Given the description of an element on the screen output the (x, y) to click on. 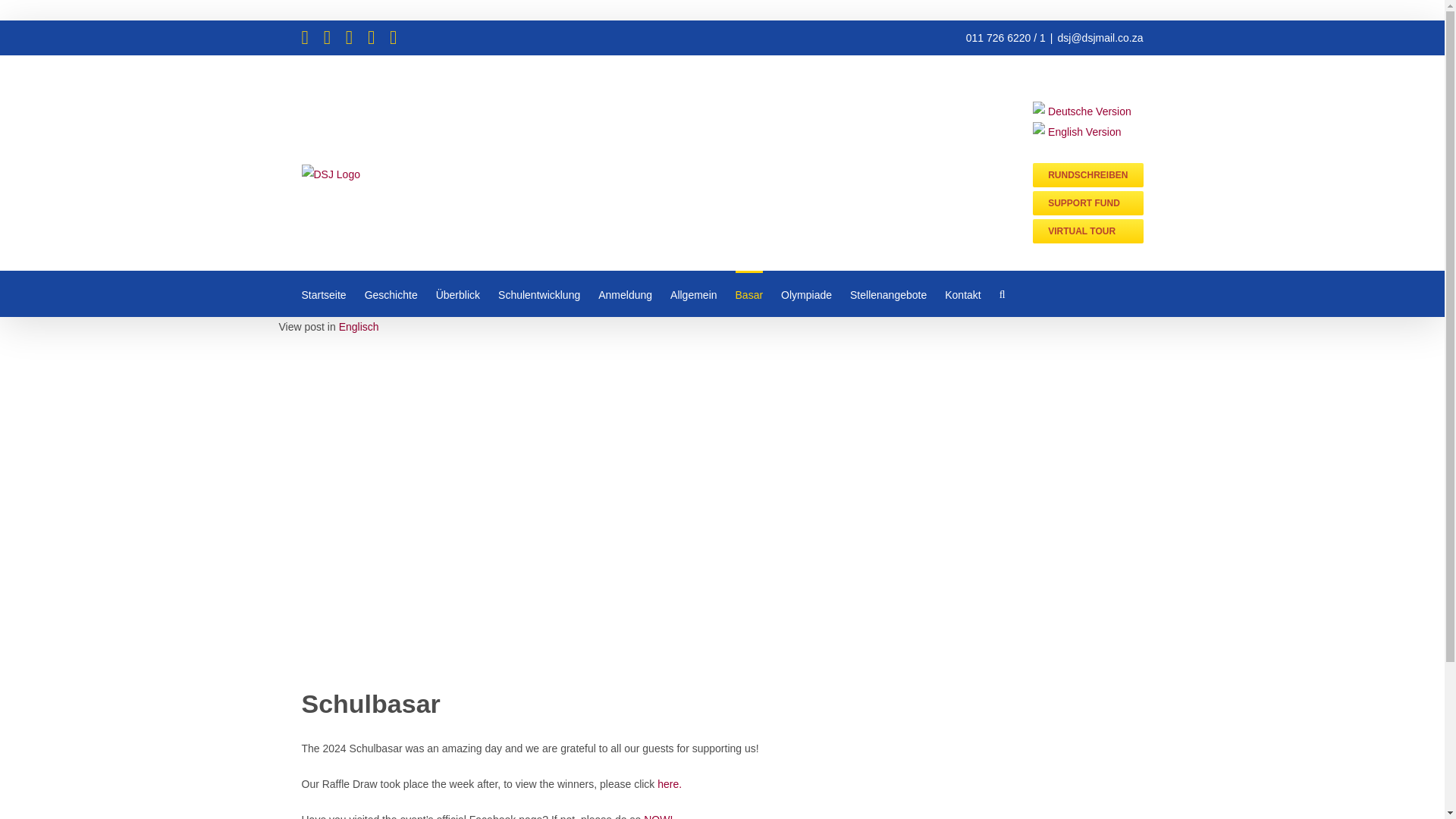
Geschichte (391, 293)
VIRTUAL TOUR (1087, 231)
English Version (1087, 132)
SUPPORT FUND (1087, 202)
RUNDSCHREIBEN (1087, 174)
Startseite (323, 293)
Deutsche Version (1087, 111)
